Given the description of an element on the screen output the (x, y) to click on. 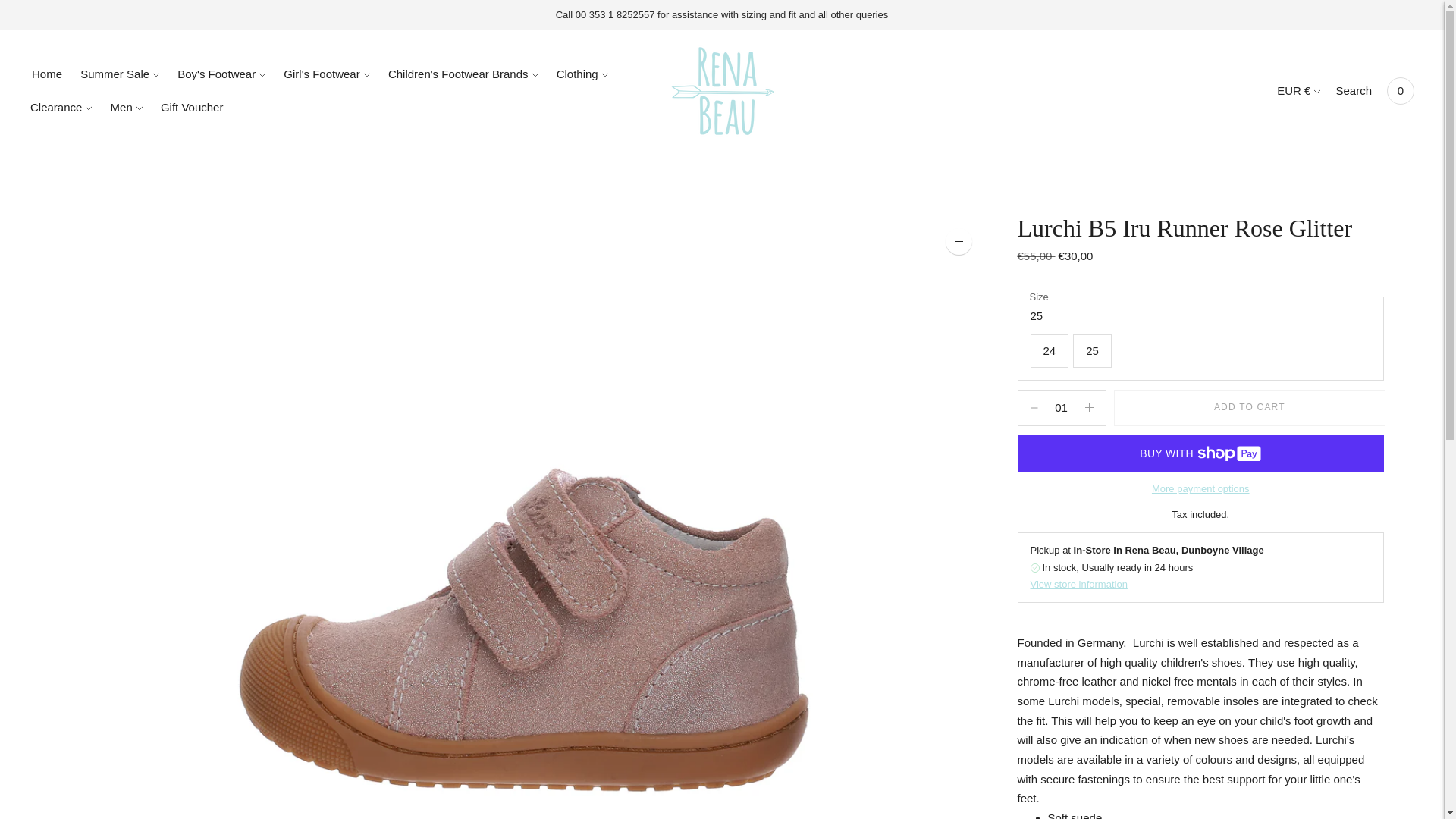
Boy's Footwear (220, 73)
01 (1061, 408)
Summer Sale (119, 73)
Children's Footwear Brands (463, 73)
Girl's Footwear (326, 73)
Home (47, 73)
